Given the description of an element on the screen output the (x, y) to click on. 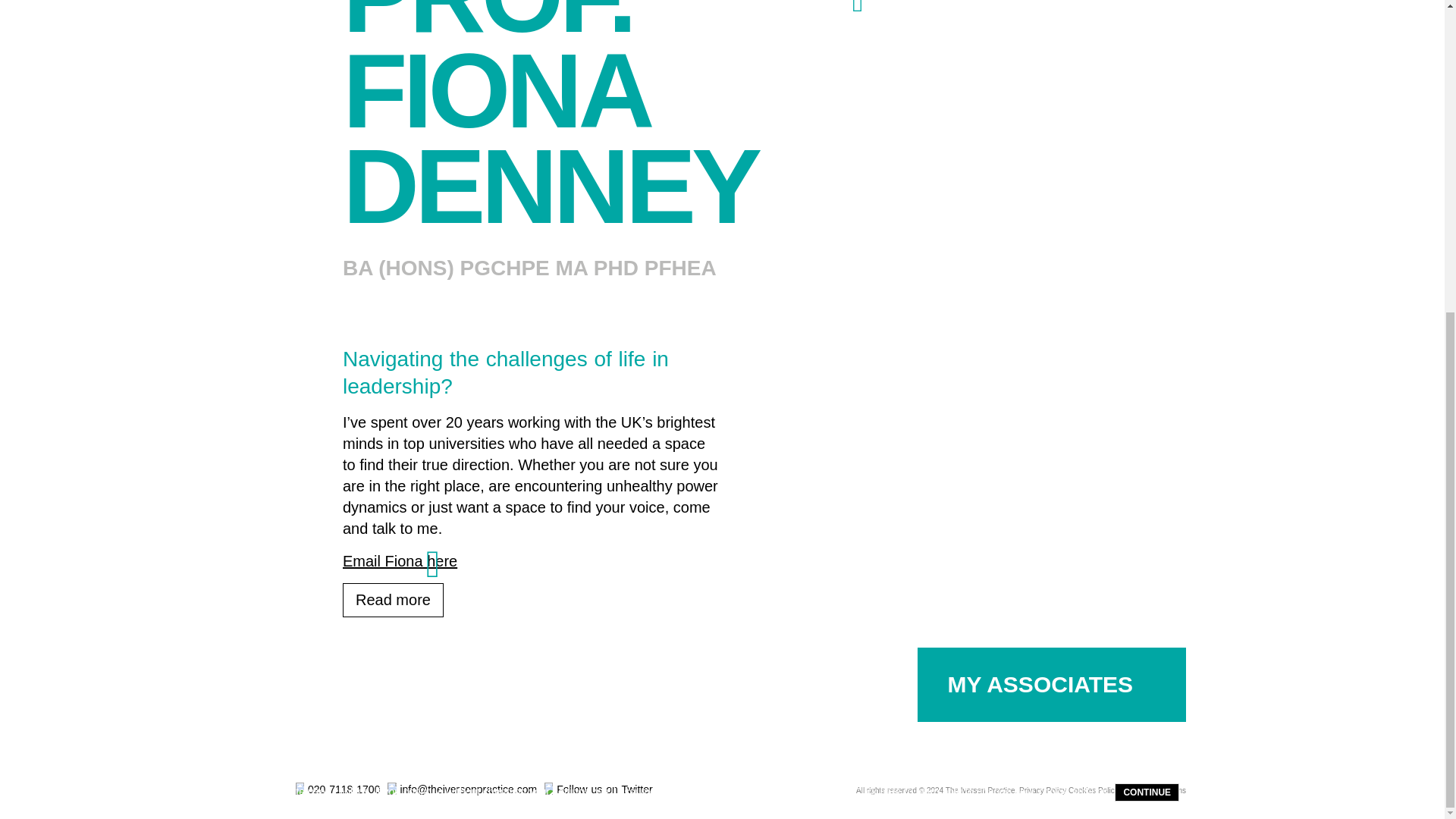
Read more (393, 600)
Email Fiona here (399, 560)
020 7118 1700 (337, 792)
MY ASSOCIATES (1051, 684)
